Given the description of an element on the screen output the (x, y) to click on. 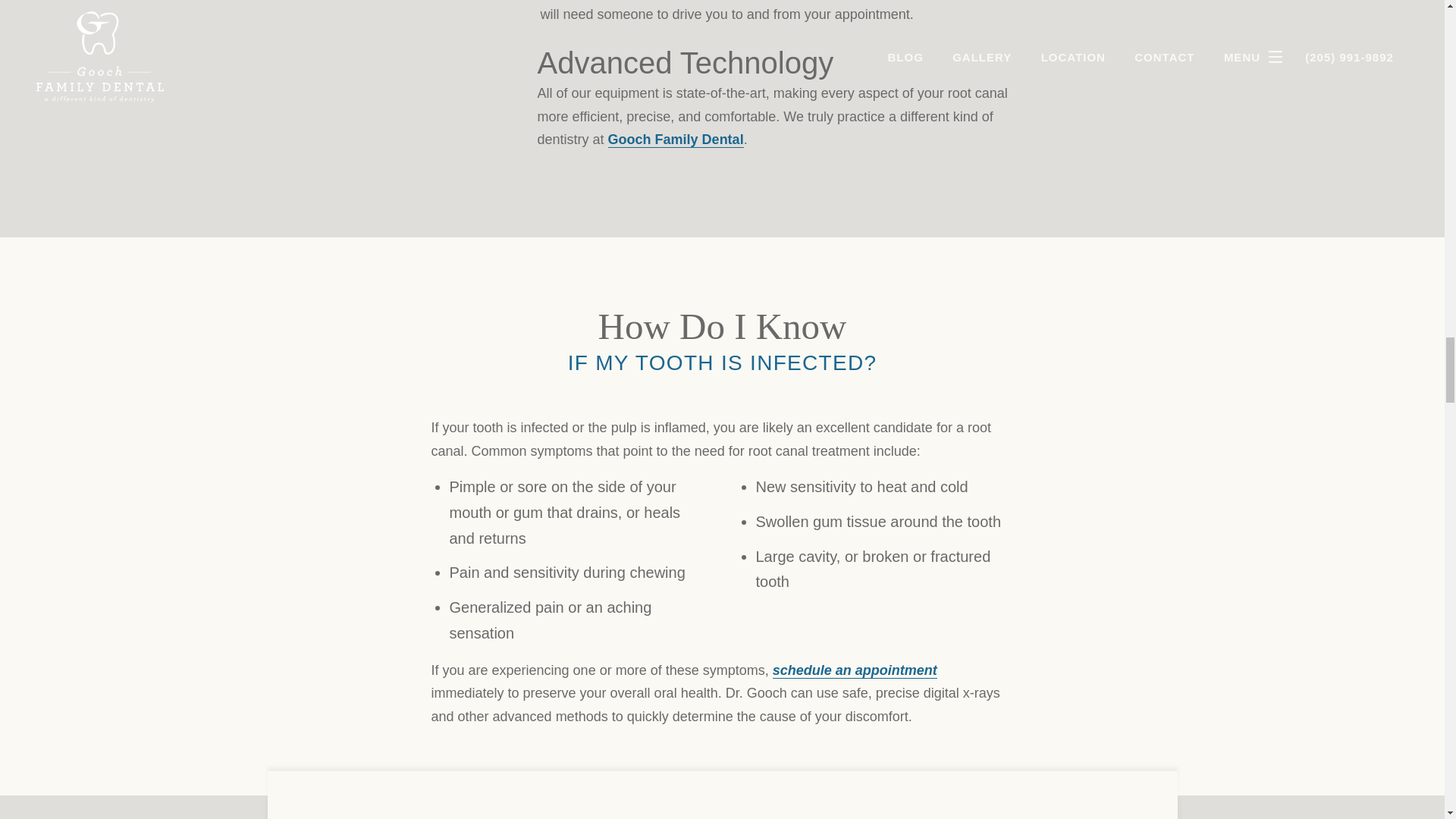
schedule an appointment (855, 670)
Gooch Family Dental (676, 139)
